Given the description of an element on the screen output the (x, y) to click on. 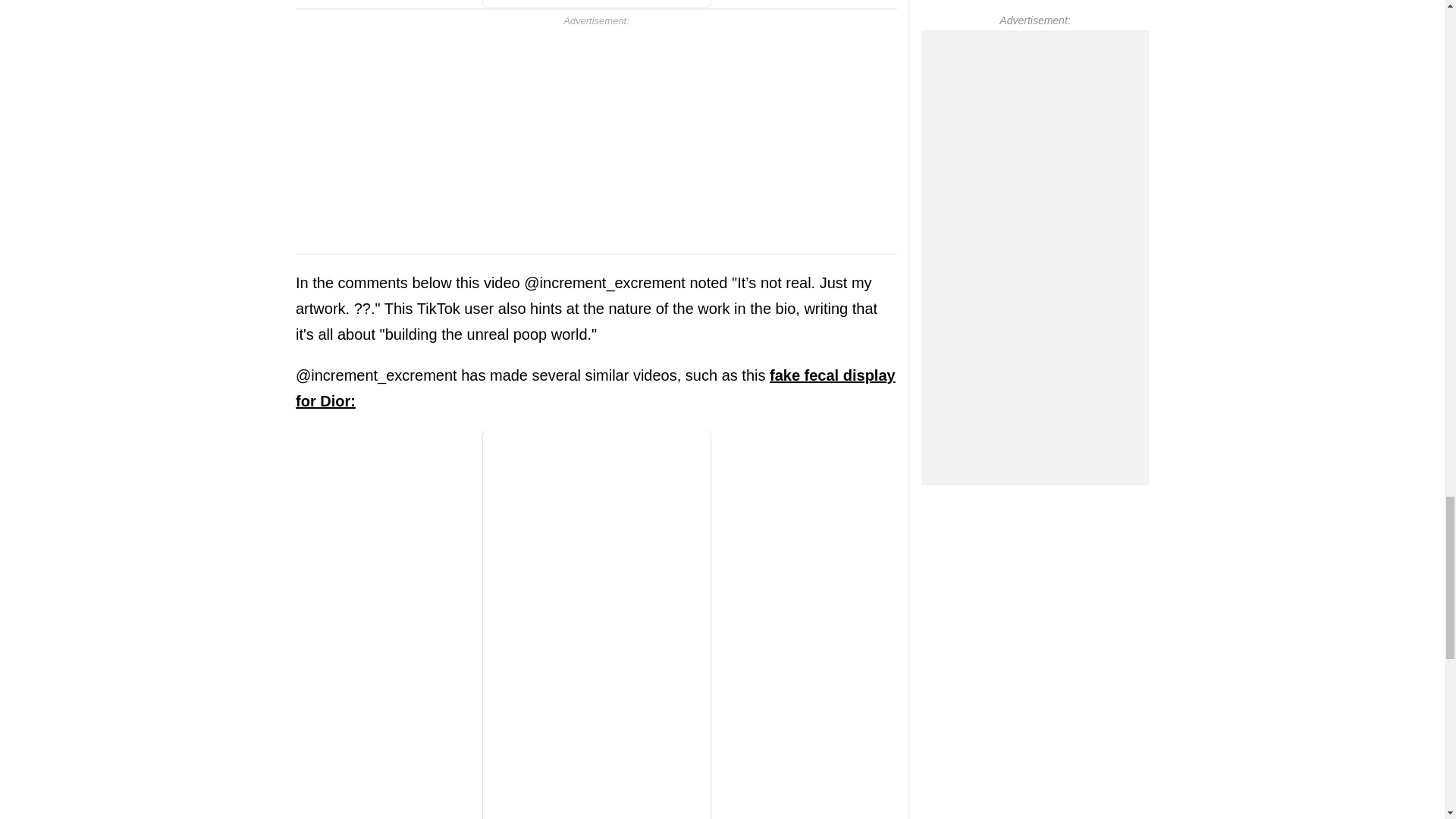
fake fecal display for Dior: (595, 387)
